Given the description of an element on the screen output the (x, y) to click on. 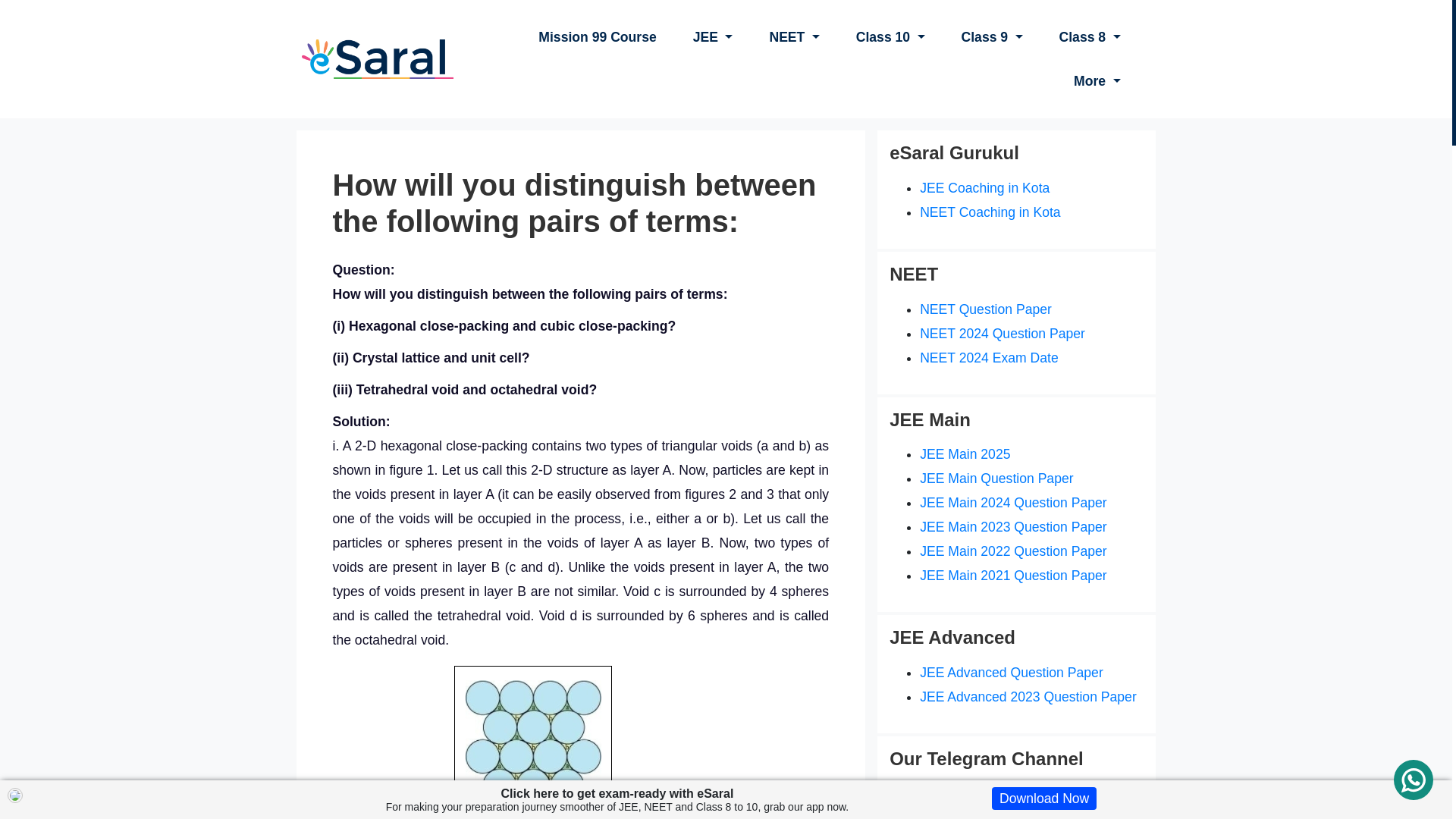
Mission 99 Course (597, 36)
JEE (713, 36)
NEET (793, 36)
More (1096, 81)
Class 9 (992, 36)
Class 10 (890, 36)
Class 8 (1088, 36)
